Given the description of an element on the screen output the (x, y) to click on. 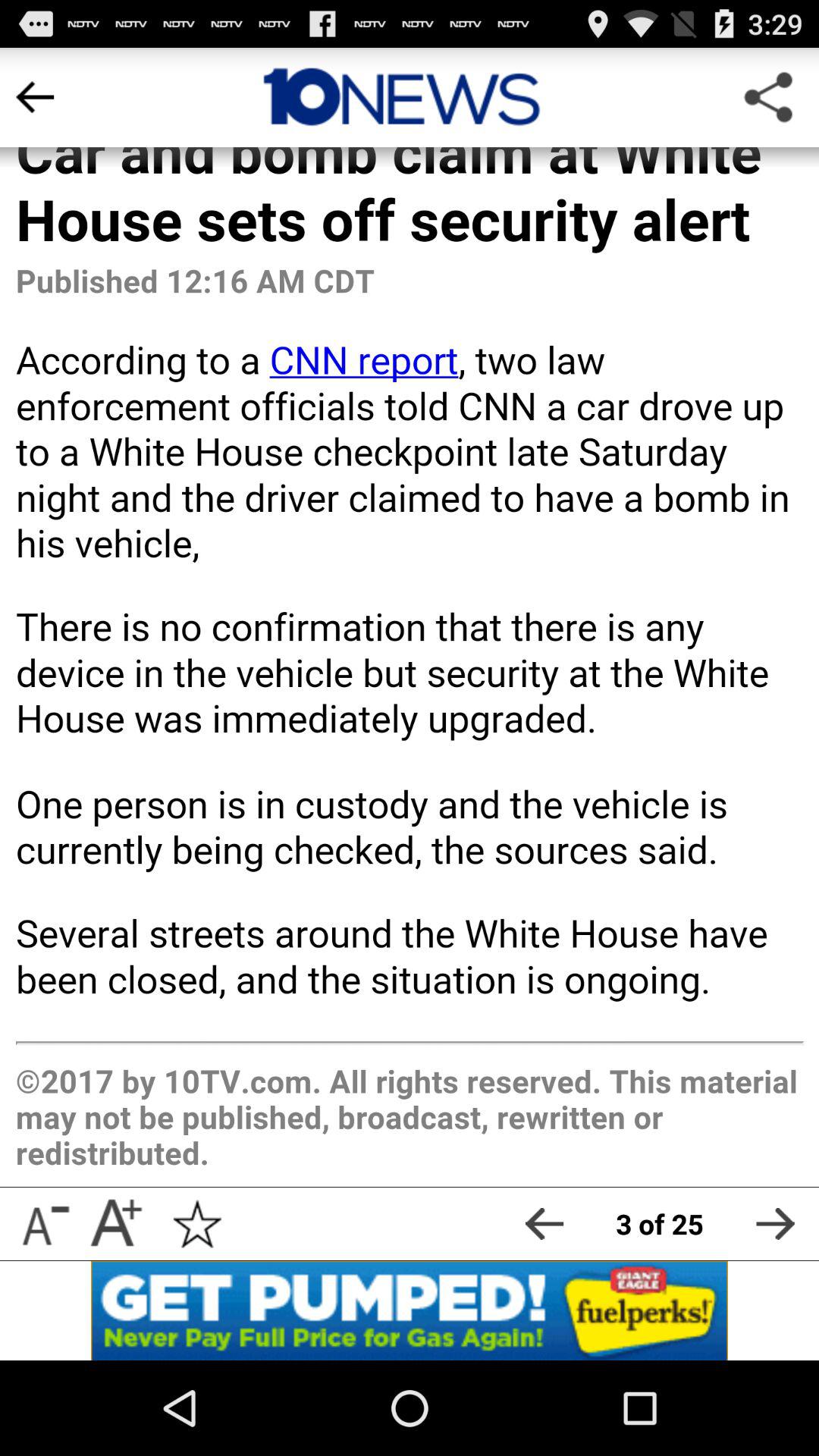
open advertisement (409, 1310)
